Given the description of an element on the screen output the (x, y) to click on. 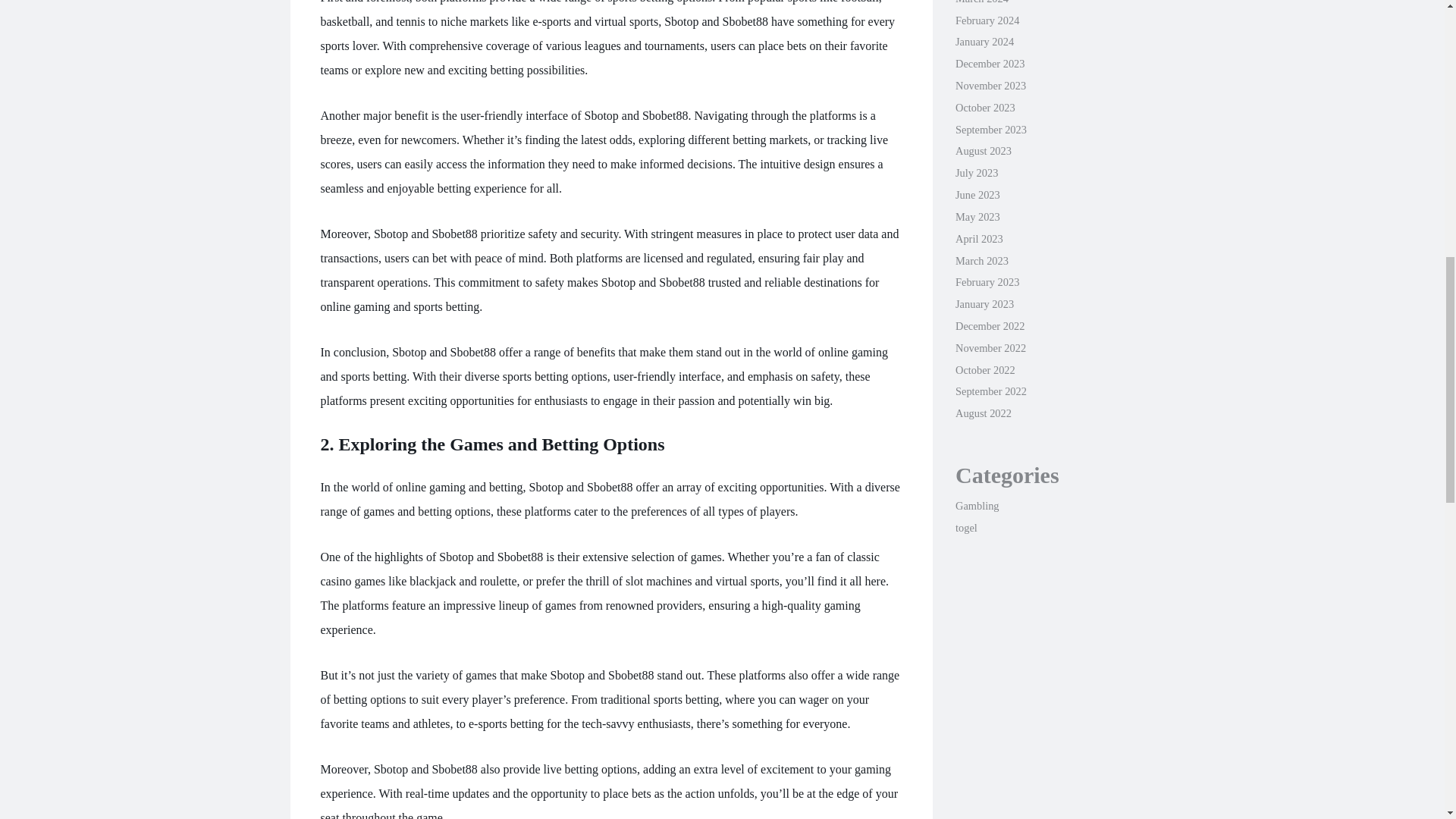
May 2023 (977, 216)
January 2023 (984, 304)
February 2024 (987, 20)
August 2022 (983, 413)
December 2022 (990, 326)
September 2022 (990, 390)
November 2022 (990, 347)
August 2023 (983, 150)
June 2023 (977, 194)
October 2022 (984, 369)
December 2023 (990, 63)
February 2023 (987, 282)
October 2023 (984, 107)
January 2024 (984, 41)
April 2023 (979, 238)
